Given the description of an element on the screen output the (x, y) to click on. 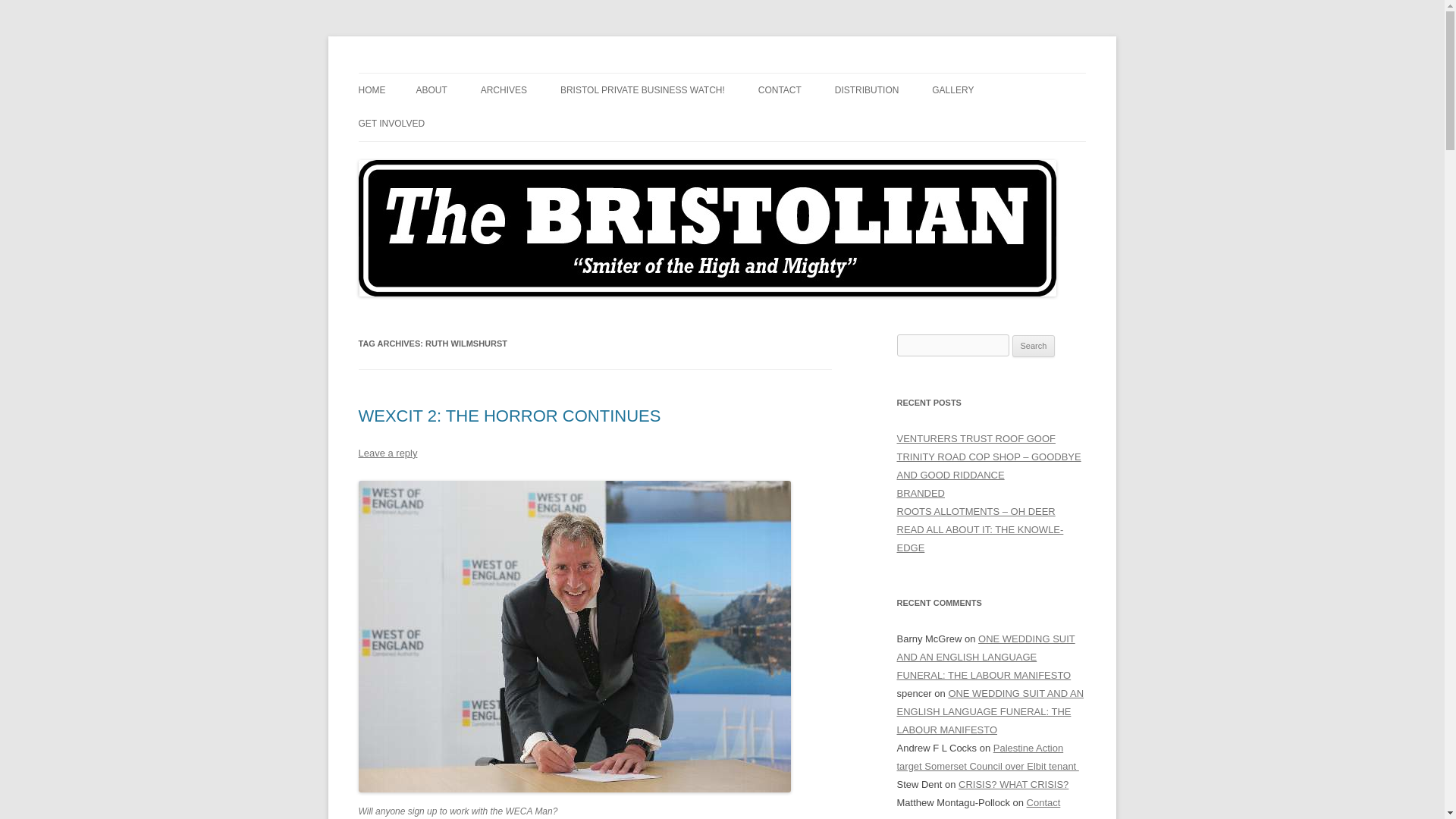
GET INVOLVED (391, 123)
Leave a reply (387, 452)
CONTACT (780, 90)
GALLERY (952, 90)
DISTRIBUTION (866, 90)
Search (1033, 345)
BRISTOL PRIVATE BUSINESS WATCH! (642, 90)
WEXCIT 2: THE HORROR CONTINUES (509, 415)
ARCHIVES (503, 90)
